Given the description of an element on the screen output the (x, y) to click on. 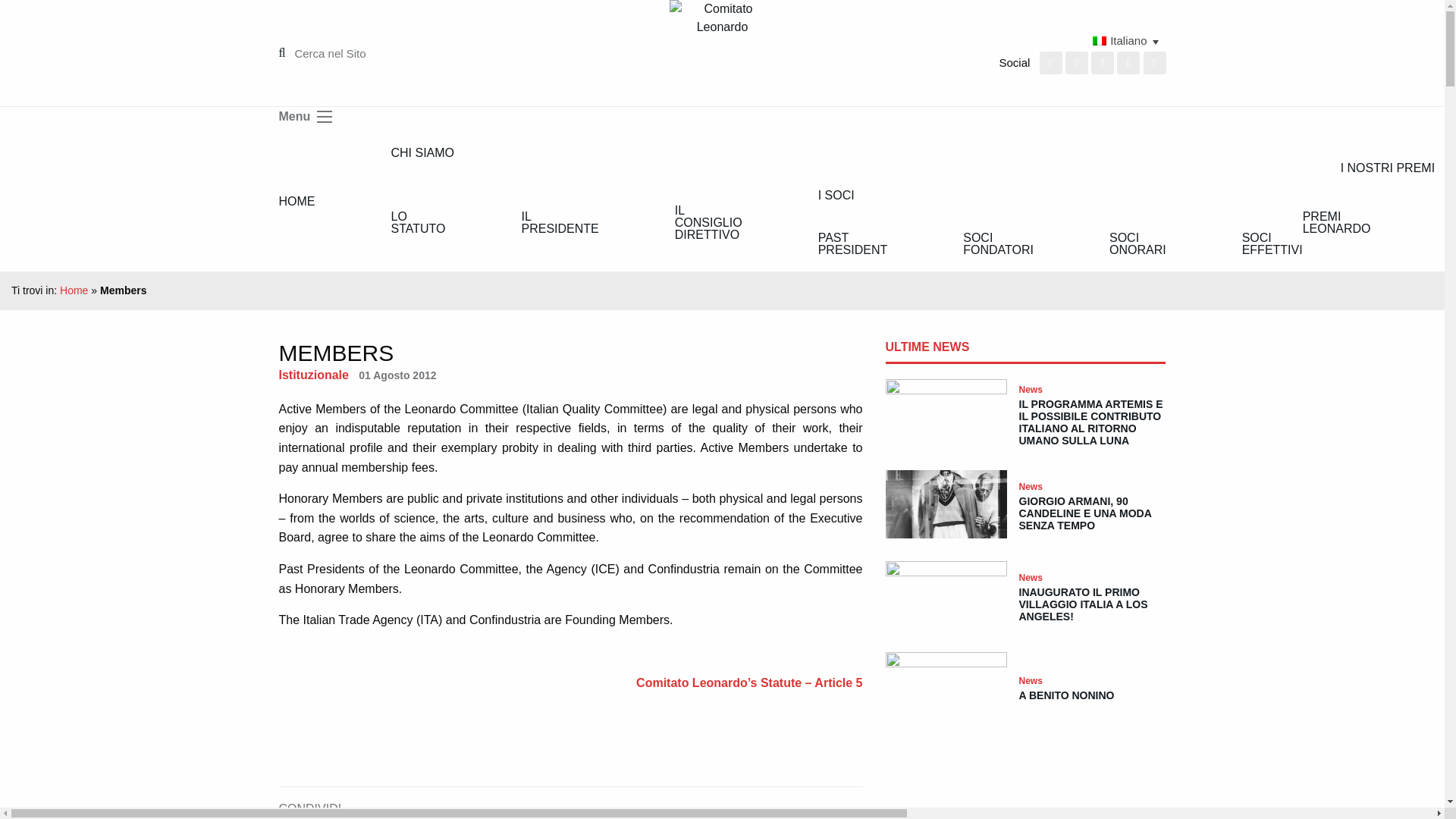
PREMI DI LAUREA (1431, 222)
Italiano (1072, 40)
SOCI FONDATORI (997, 244)
I SOCI (1041, 195)
CHI SIAMO (828, 152)
Home (73, 290)
IL PRESIDENTE (560, 222)
PAST PRESIDENT (853, 244)
SOCI ONORARI (1137, 244)
SOCI EFFETTIVI (1253, 244)
IL CONSIGLIO DIRETTIVO (708, 222)
PREMI LEONARDO (1356, 222)
